Given the description of an element on the screen output the (x, y) to click on. 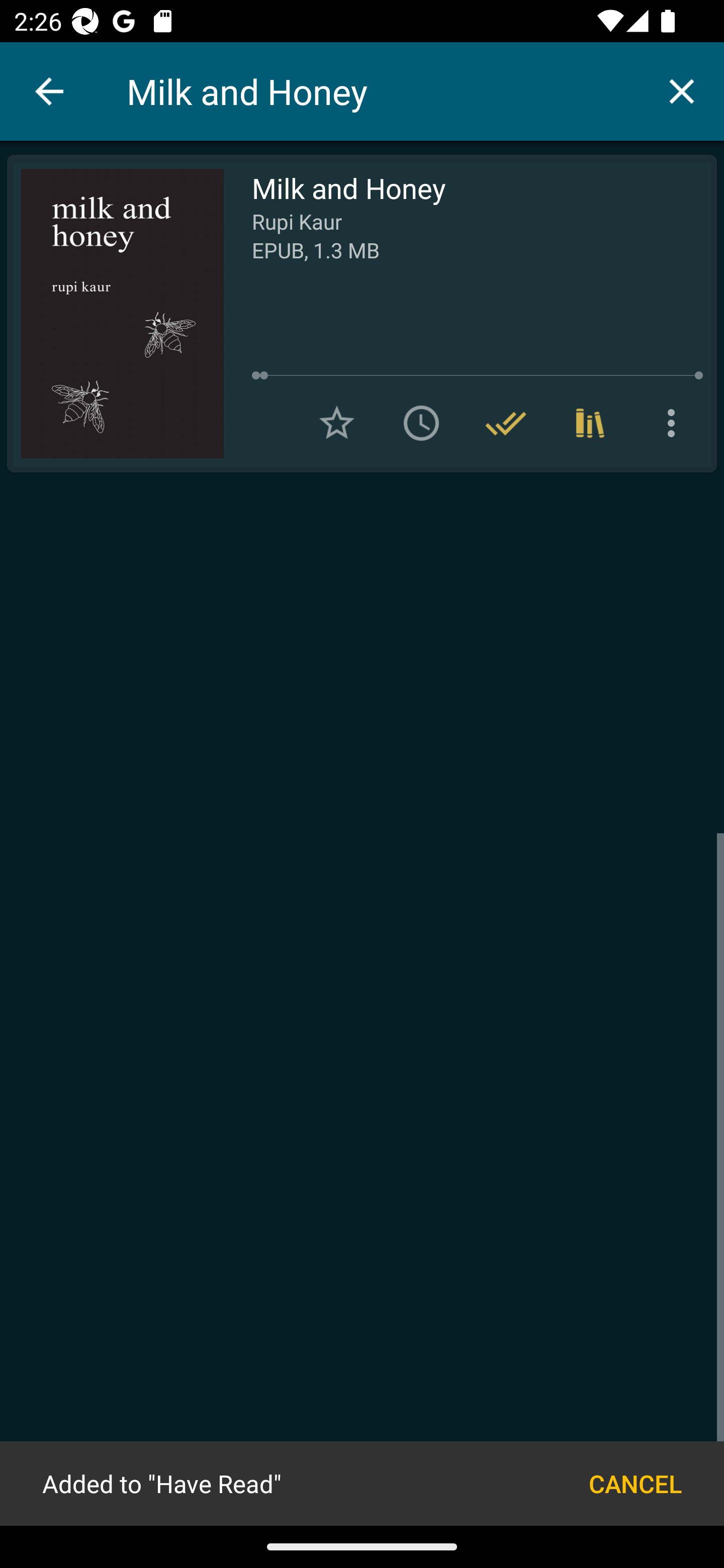
Back (49, 91)
Milk and Honey (382, 91)
Clear (681, 90)
Read Milk and Honey (115, 313)
Add to Favorites (336, 423)
Add to To read (421, 423)
Remove from Have read (505, 423)
Collections (4) (590, 423)
More options (674, 423)
CANCEL (635, 1482)
